Given the description of an element on the screen output the (x, y) to click on. 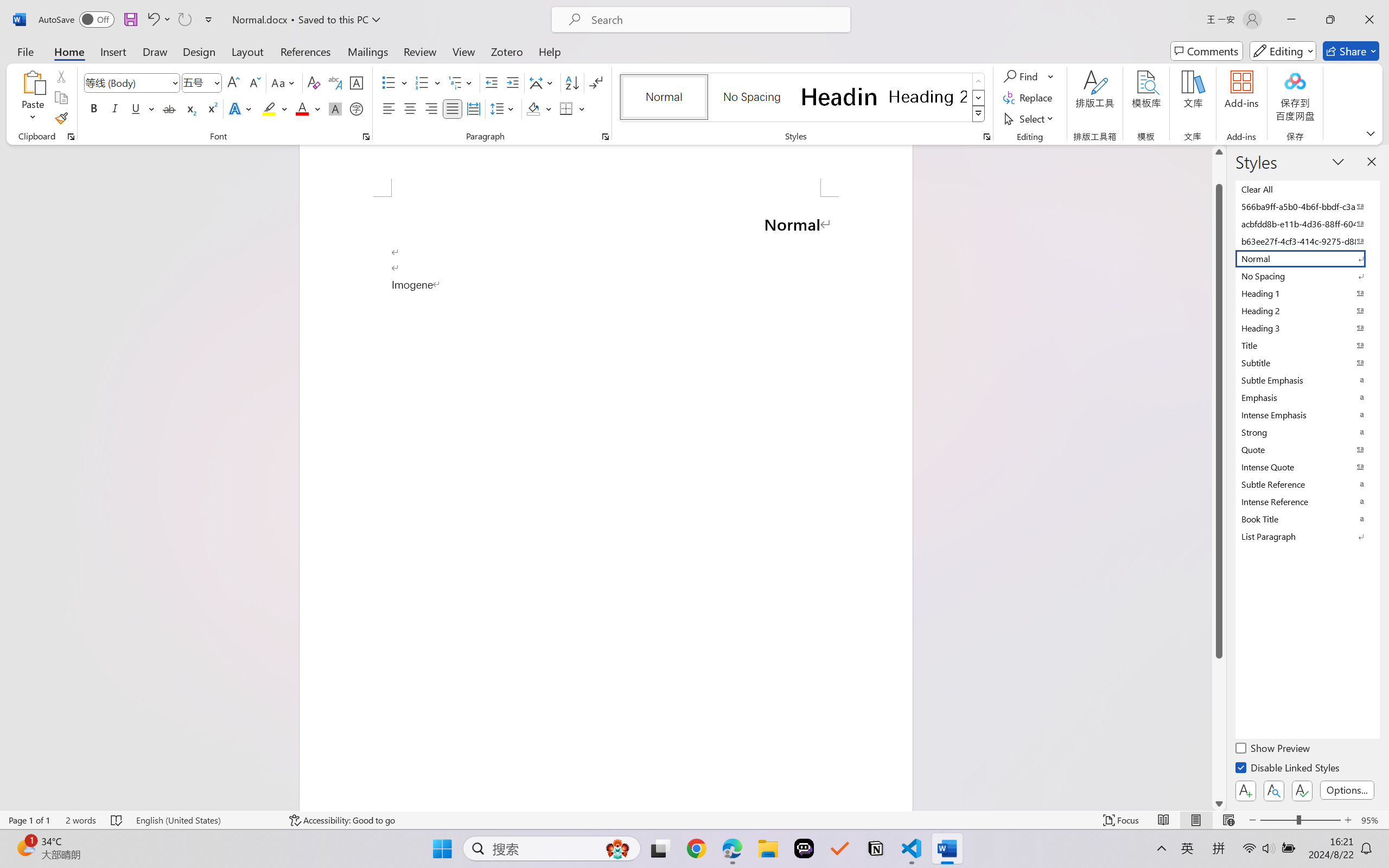
Mode (1283, 50)
Intense Reference (1306, 501)
Text Effects and Typography (241, 108)
Styles... (986, 136)
Row up (978, 81)
Shrink Font (253, 82)
Styles (978, 113)
List Paragraph (1306, 536)
Font Color RGB(255, 0, 0) (302, 108)
